Given the description of an element on the screen output the (x, y) to click on. 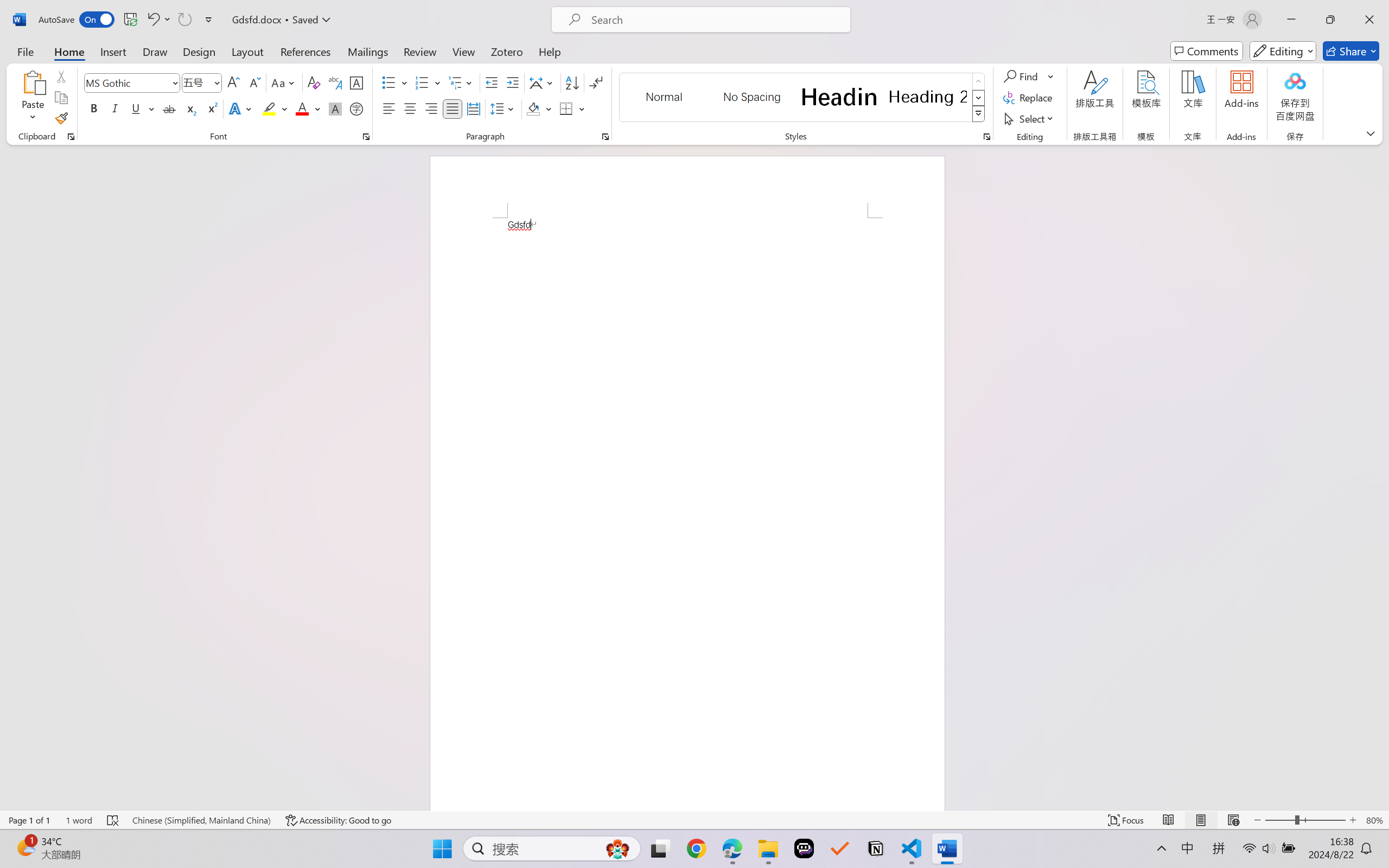
Undo Font Formatting (158, 19)
